Given the description of an element on the screen output the (x, y) to click on. 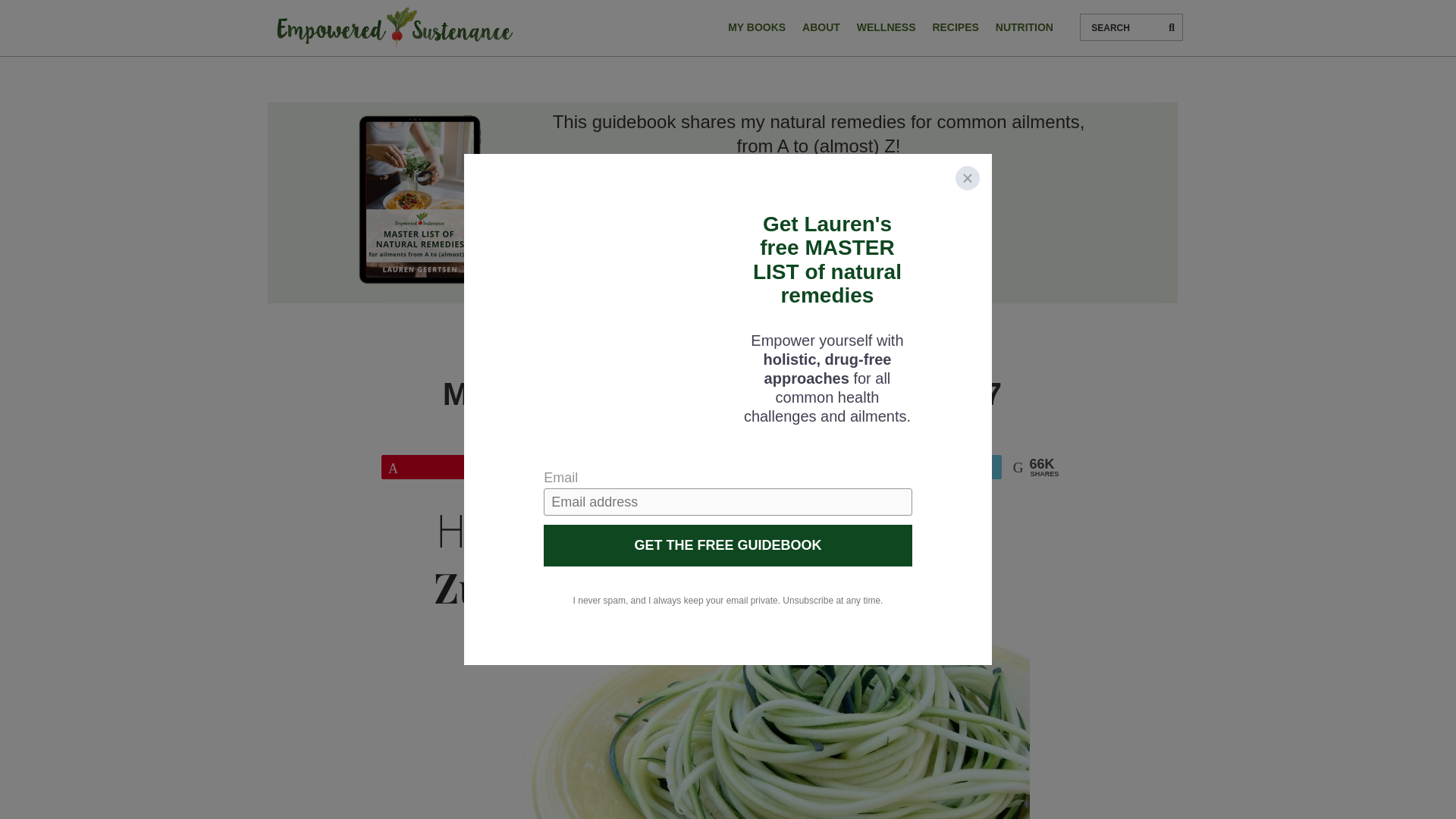
NUTRITION (1023, 27)
Empowered Sustenance (394, 28)
WELLNESS (886, 27)
FREE GUIDEBOOK (818, 189)
Affiliate Disclosure (819, 357)
RECIPES (954, 27)
ABOUT (820, 27)
66K (481, 466)
30 Comments (725, 357)
MY BOOKS (756, 27)
About (820, 27)
